Given the description of an element on the screen output the (x, y) to click on. 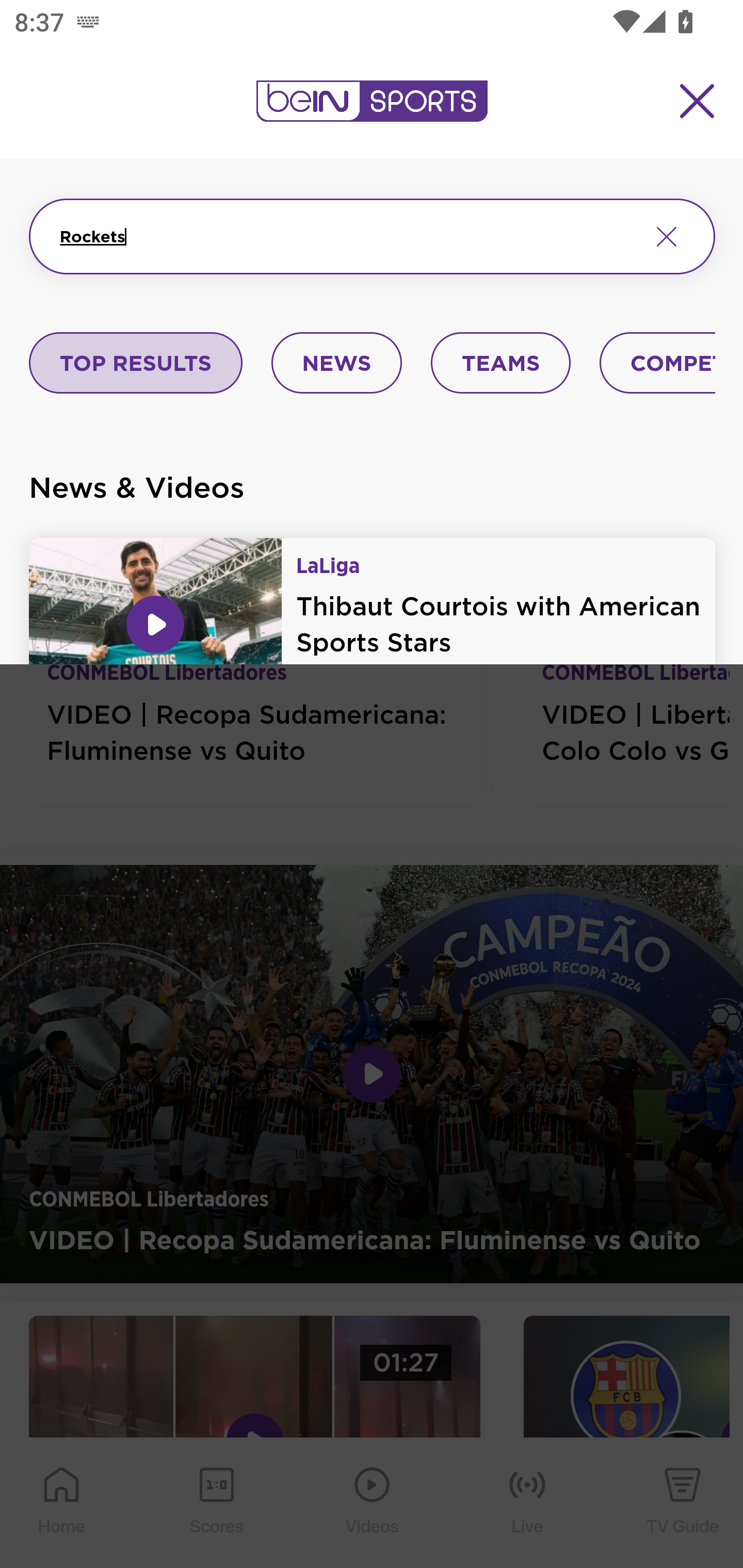
en-us?platform=mobile_android bein logo (371, 101)
Close Menu Icon (697, 101)
TOP RESULTS (135, 363)
NEWS (336, 363)
TEAMS (500, 363)
COMPETITIONS (657, 363)
